Given the description of an element on the screen output the (x, y) to click on. 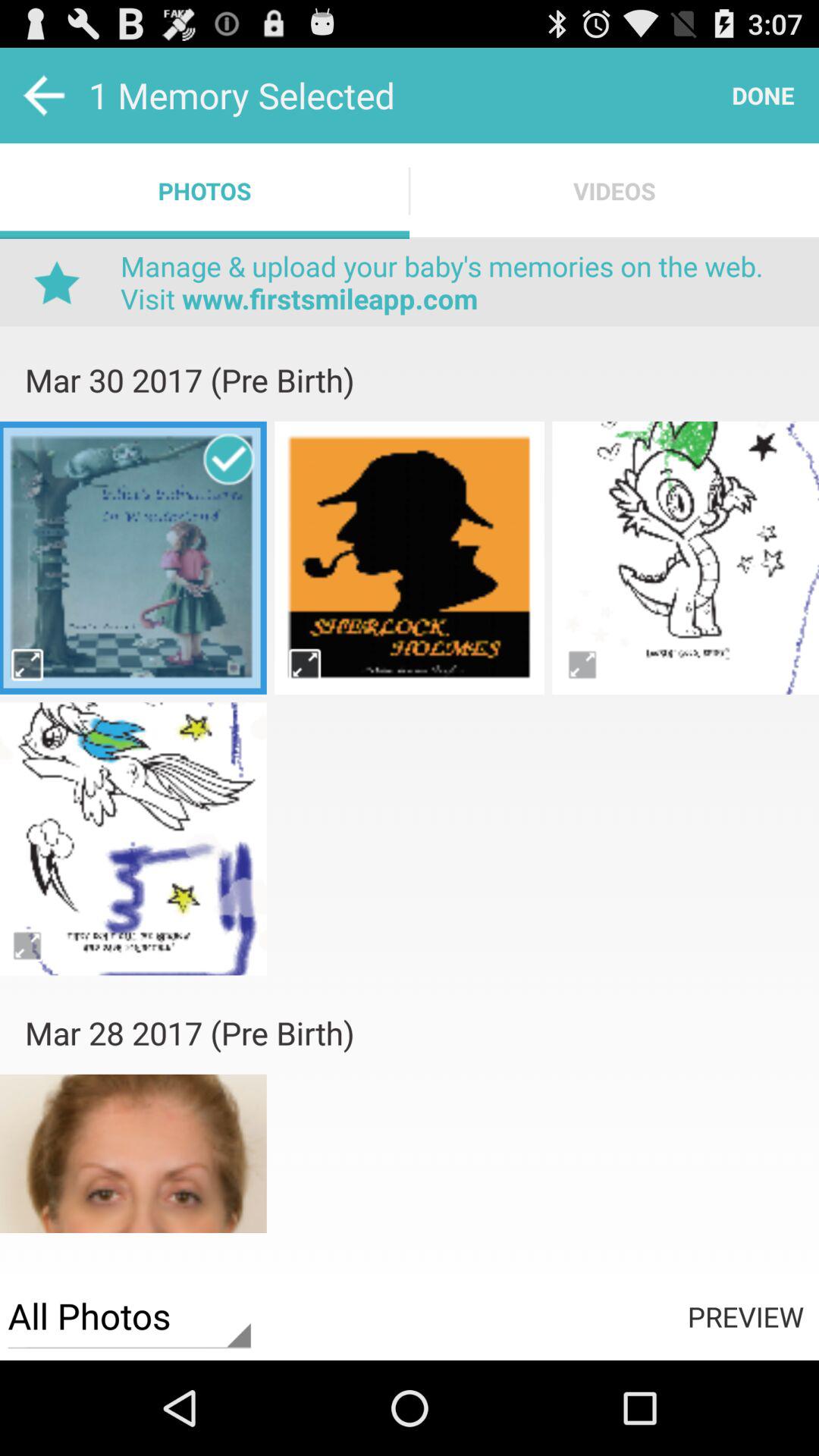
select photos (409, 719)
